Given the description of an element on the screen output the (x, y) to click on. 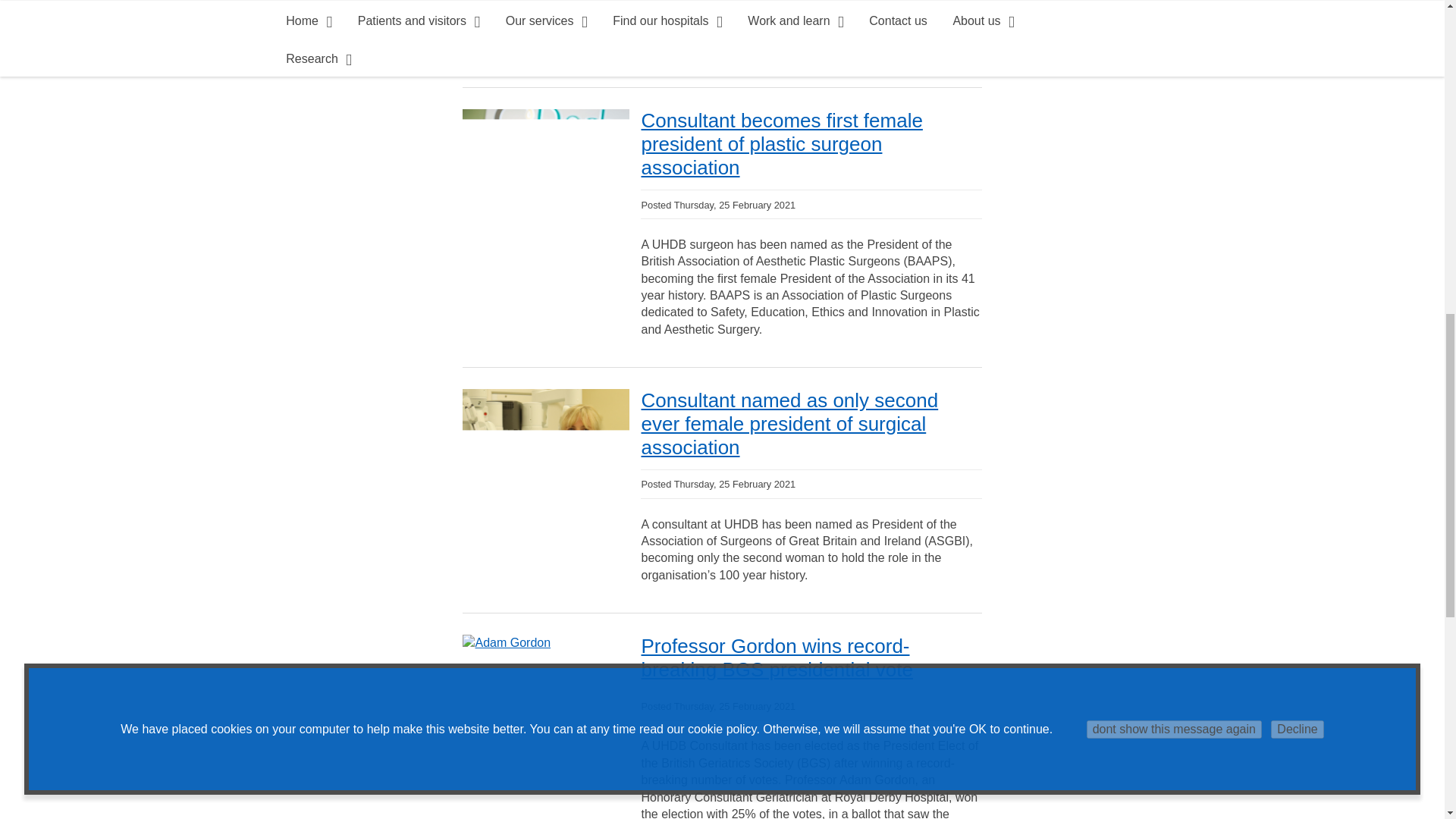
Professor Gordon wins record-breaking BGS presidential vote (506, 642)
